Given the description of an element on the screen output the (x, y) to click on. 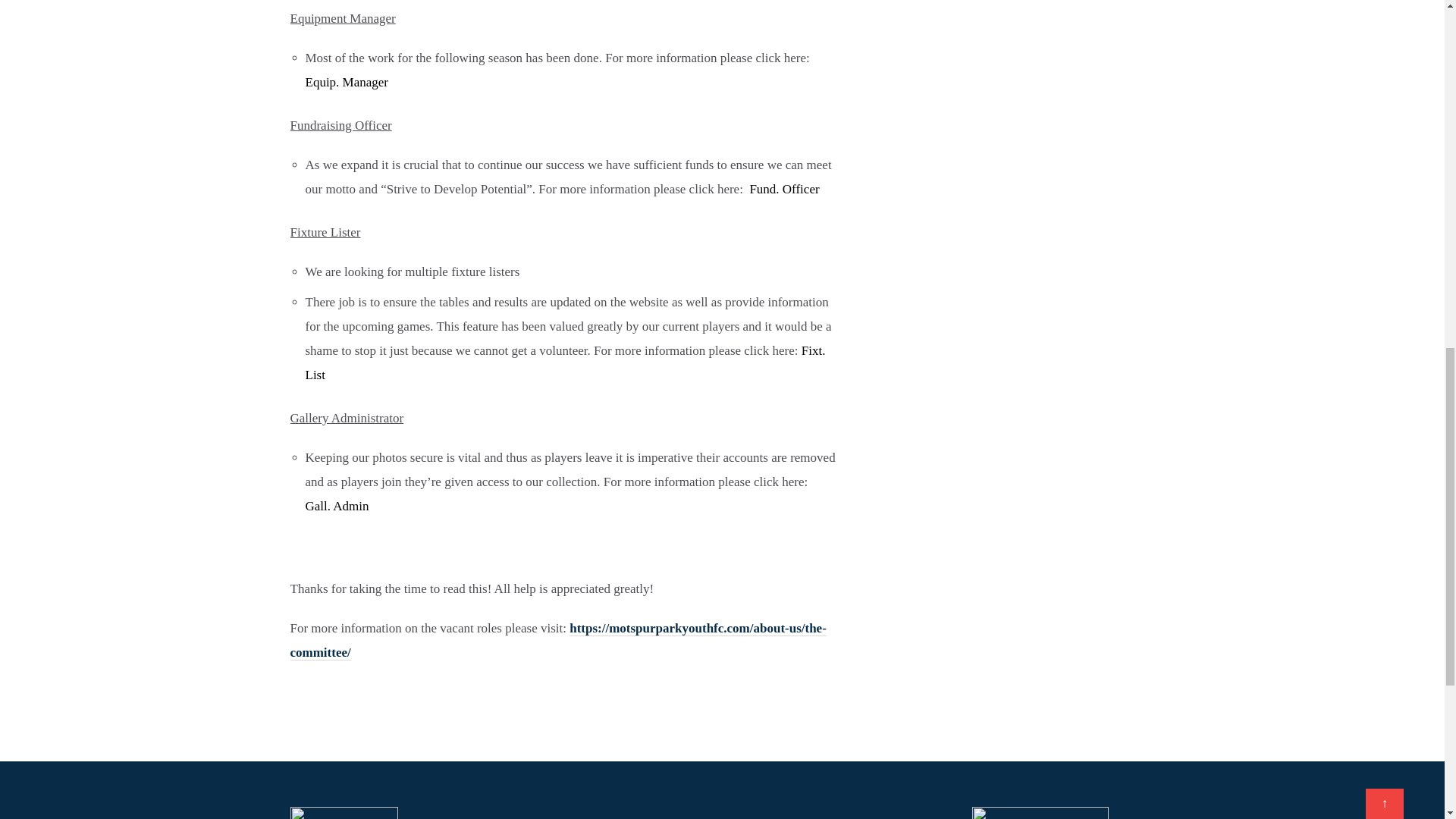
Scroll to top (1384, 1)
